Given the description of an element on the screen output the (x, y) to click on. 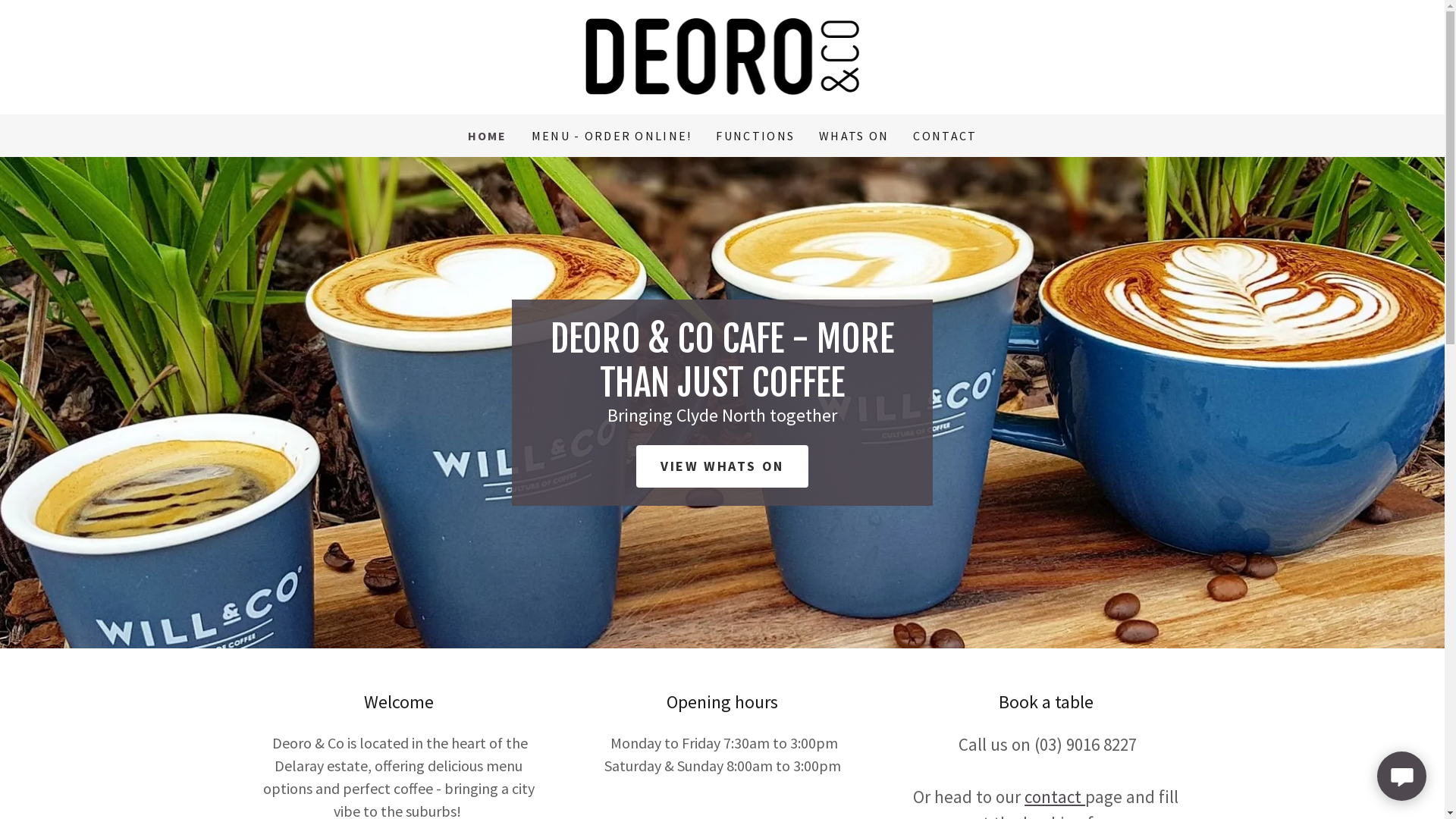
MENU - ORDER ONLINE! Element type: text (611, 135)
contact Element type: text (1054, 796)
HOME Element type: text (487, 135)
VIEW WHATS ON Element type: text (721, 466)
WHATS ON Element type: text (853, 135)
FUNCTIONS Element type: text (755, 135)
CONTACT Element type: text (944, 135)
Deoro & Co Element type: hover (722, 55)
